Given the description of an element on the screen output the (x, y) to click on. 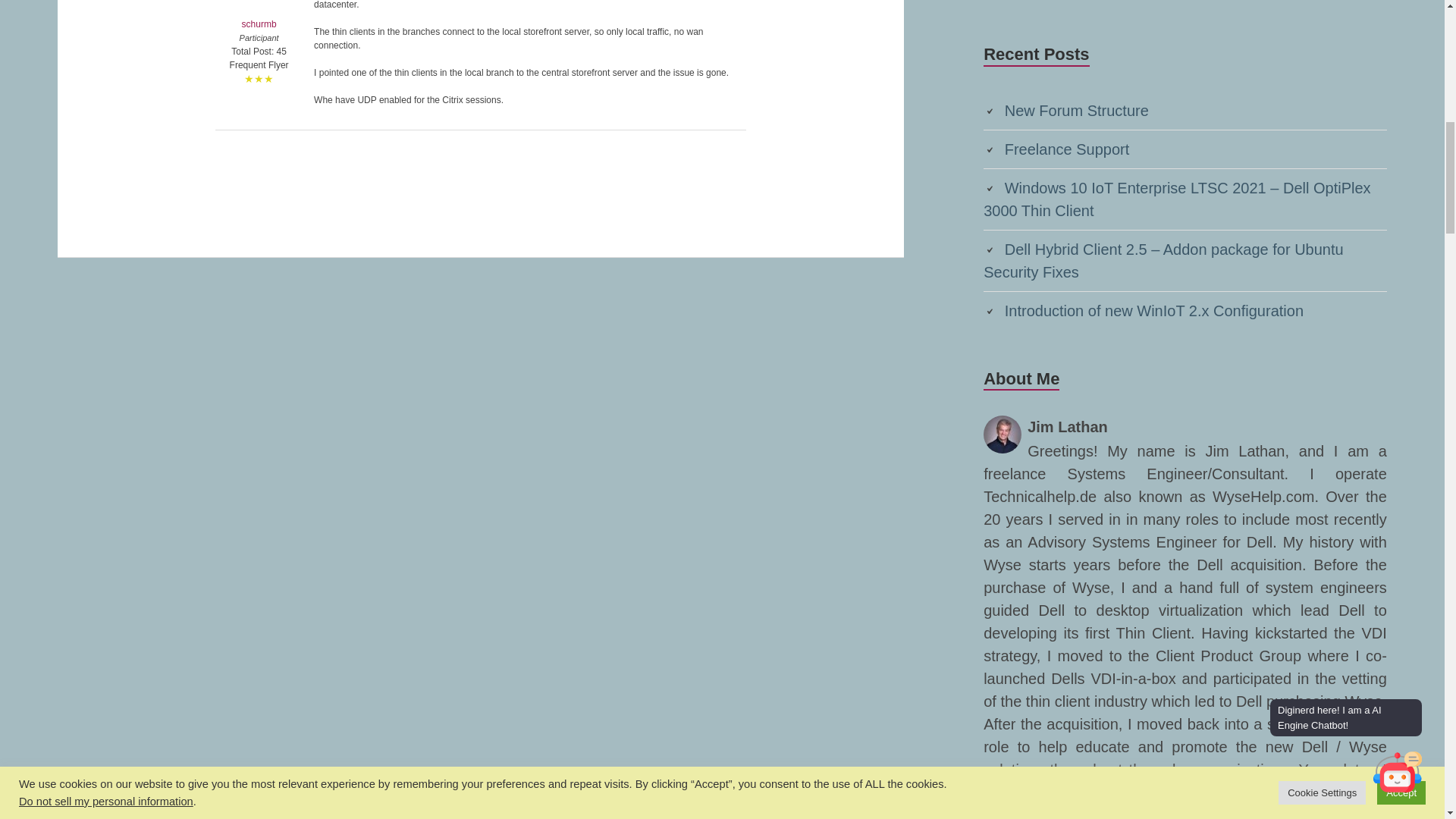
View schurmb's profile (258, 15)
schurmb (258, 15)
Freelance Support (1066, 149)
New Forum Structure (1076, 110)
Introduction of new WinIoT 2.x Configuration (1153, 310)
